Given the description of an element on the screen output the (x, y) to click on. 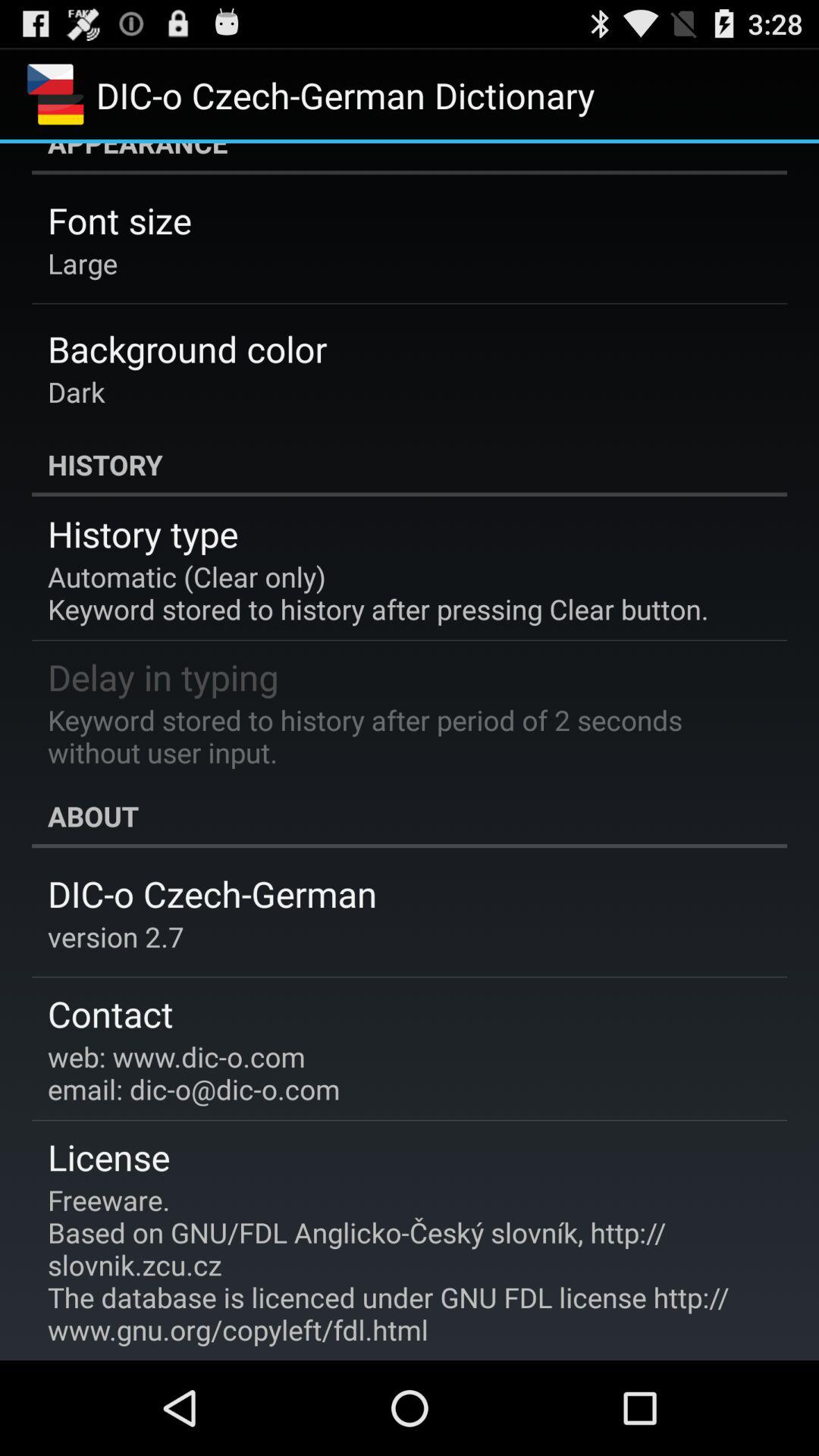
turn off icon above the contact app (115, 936)
